Given the description of an element on the screen output the (x, y) to click on. 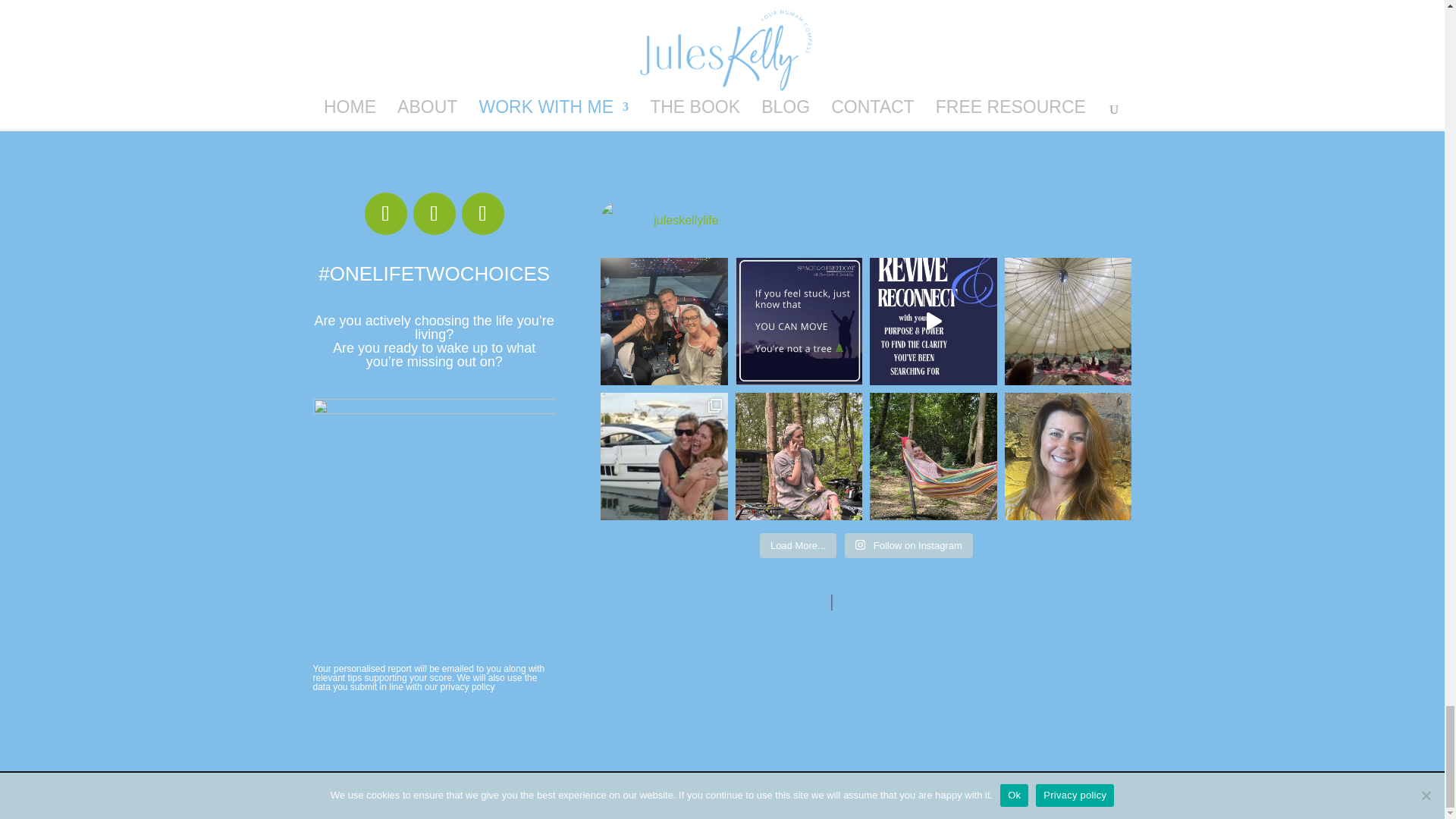
Follow on Facebook (386, 213)
Take the quiz white (433, 519)
Follow on Instagram (434, 213)
juleskellylife (865, 220)
TAKE THE QUIZ (938, 87)
Follow on LinkedIn (482, 213)
